Given the description of an element on the screen output the (x, y) to click on. 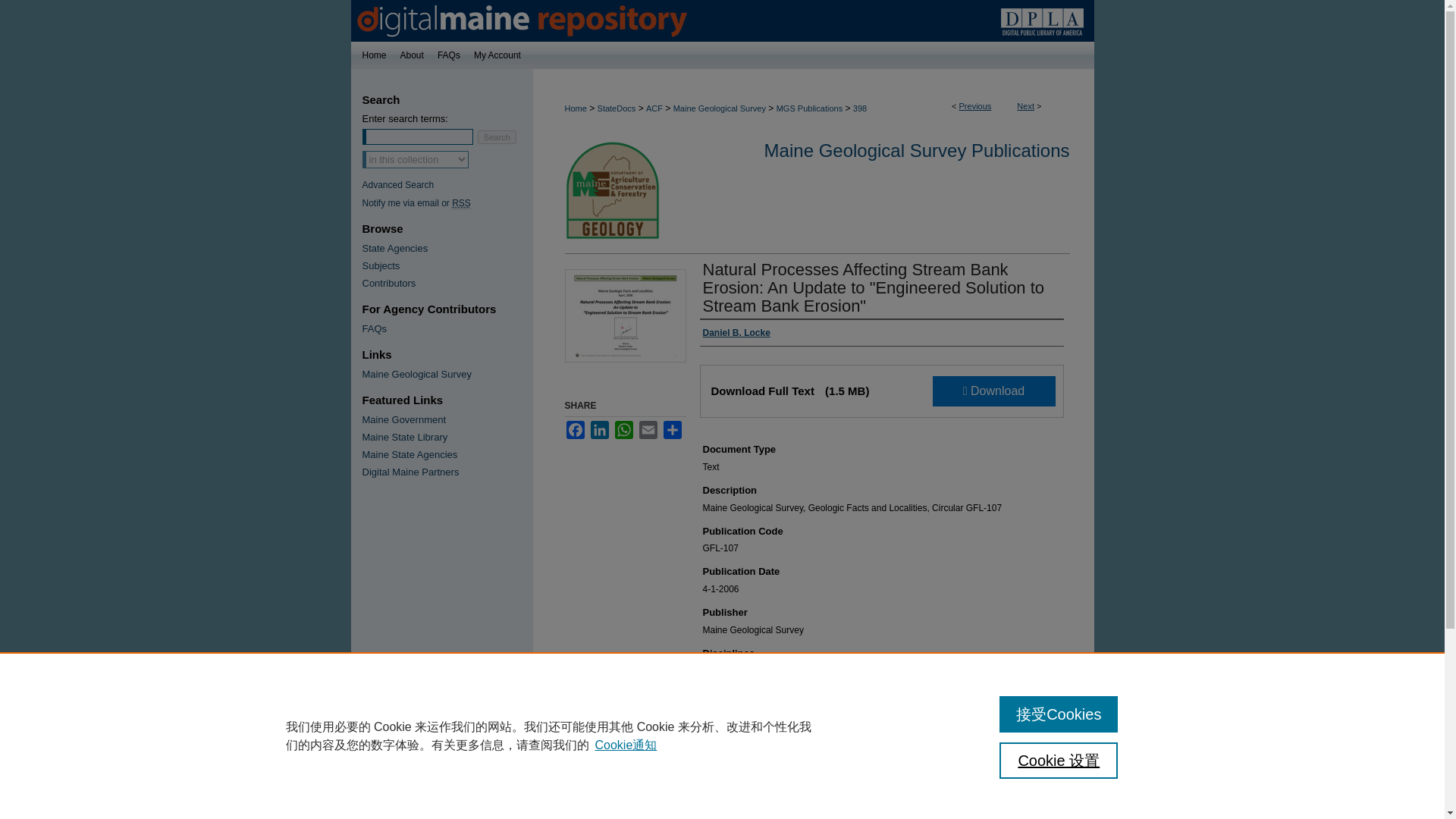
Daniel B. Locke (735, 332)
State Agencies (447, 247)
Facebook (574, 429)
Search (496, 137)
Download (994, 390)
Browse by Subjects (447, 265)
My Account (503, 54)
Next (1024, 105)
WhatsApp (622, 429)
About (411, 54)
Digital Maine (721, 20)
StateDocs (616, 108)
Search (496, 137)
About (411, 54)
